Given the description of an element on the screen output the (x, y) to click on. 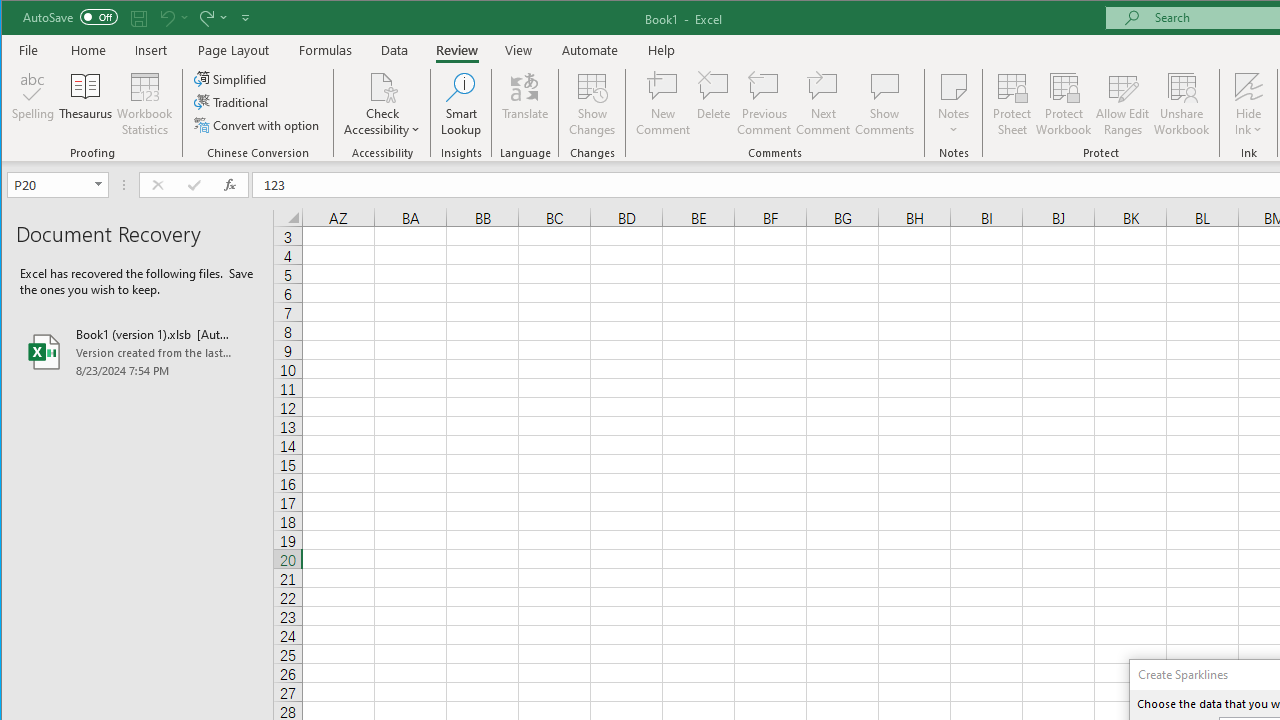
Delete (713, 104)
Show Comments (884, 104)
AutoSave (70, 16)
Next Comment (822, 104)
